Given the description of an element on the screen output the (x, y) to click on. 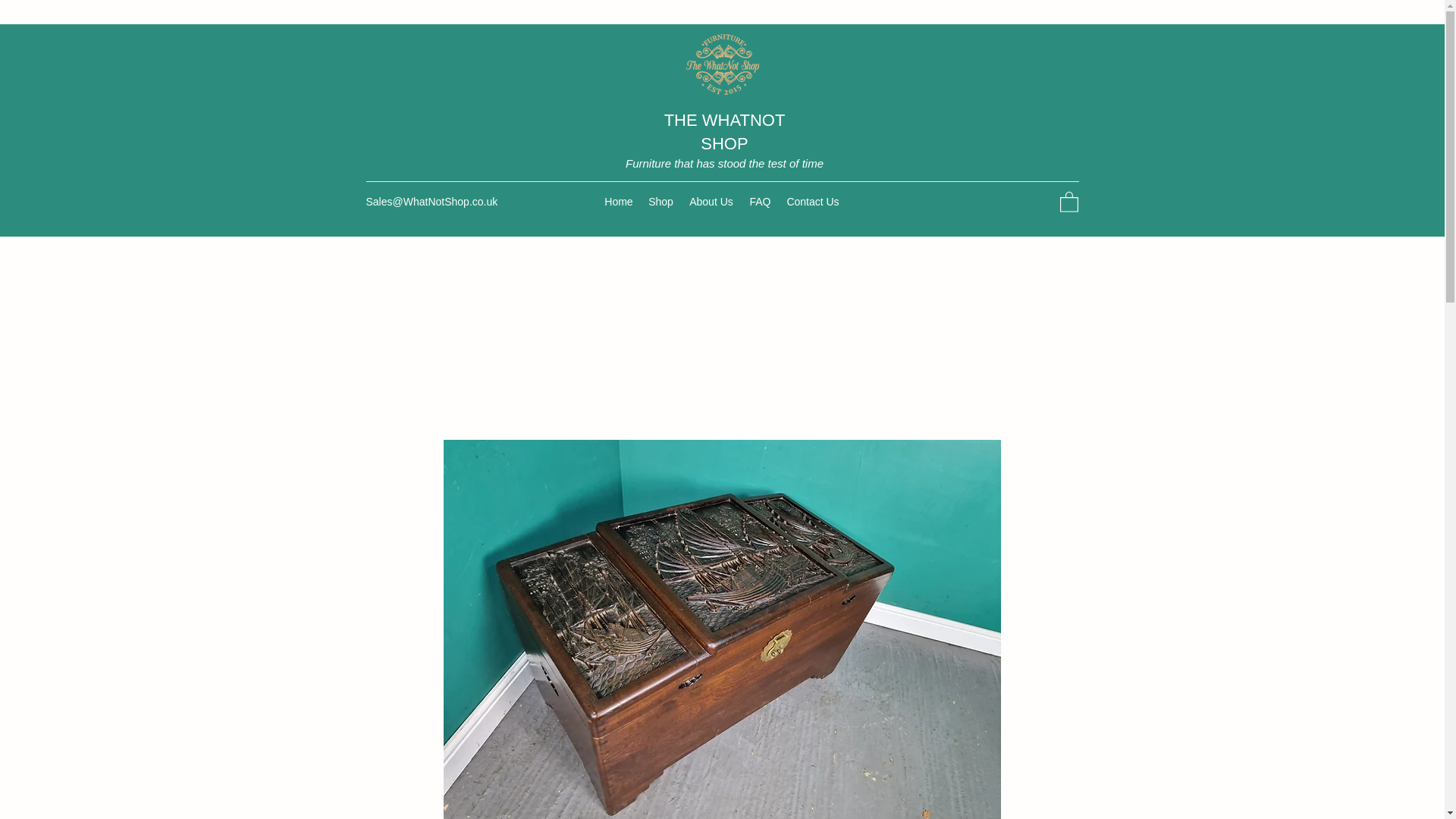
About Us (711, 201)
Home (618, 201)
Shop (660, 201)
FAQ (759, 201)
Contact Us (812, 201)
